Given the description of an element on the screen output the (x, y) to click on. 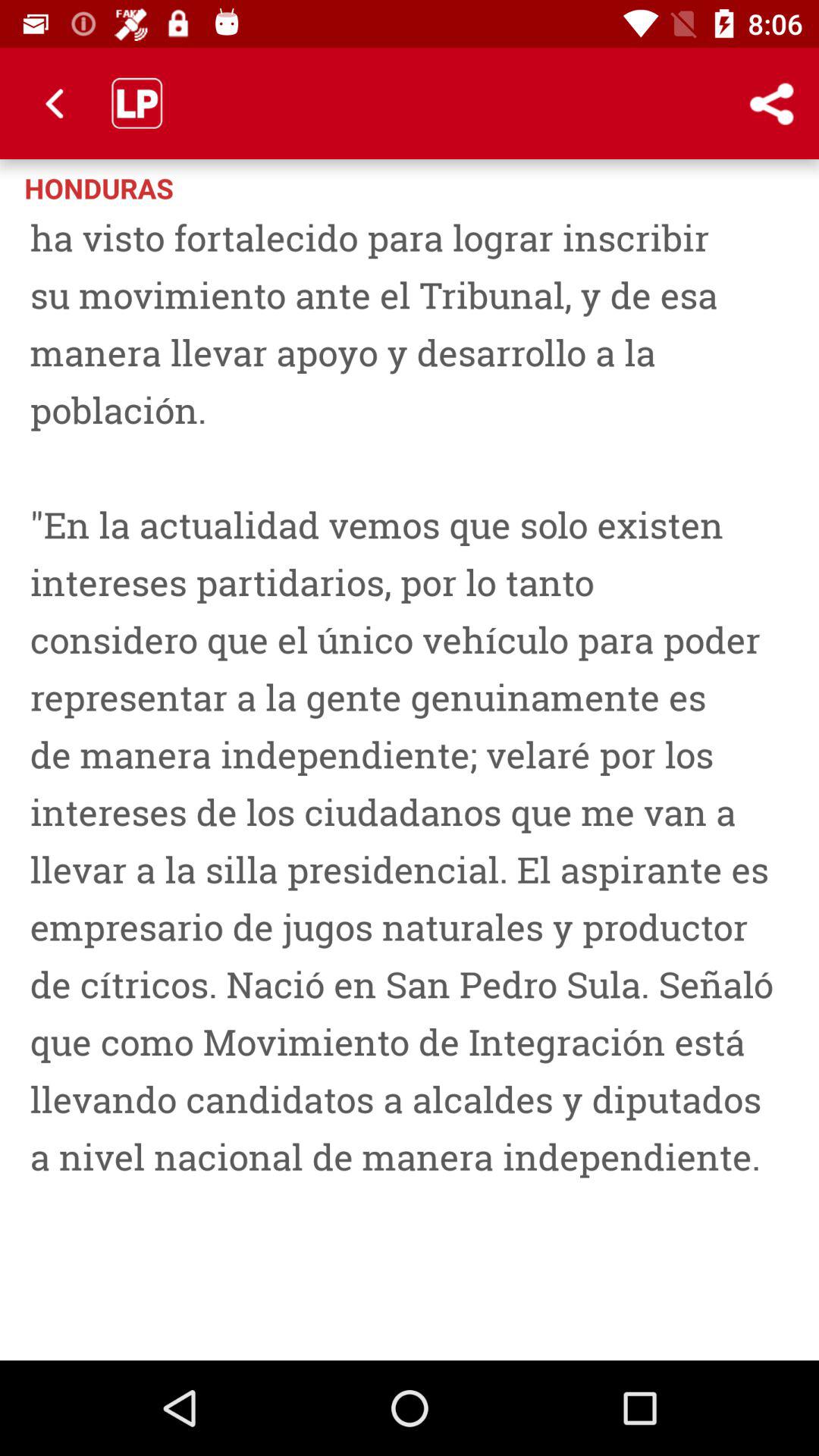
swipe until san pedro sula icon (409, 778)
